Given the description of an element on the screen output the (x, y) to click on. 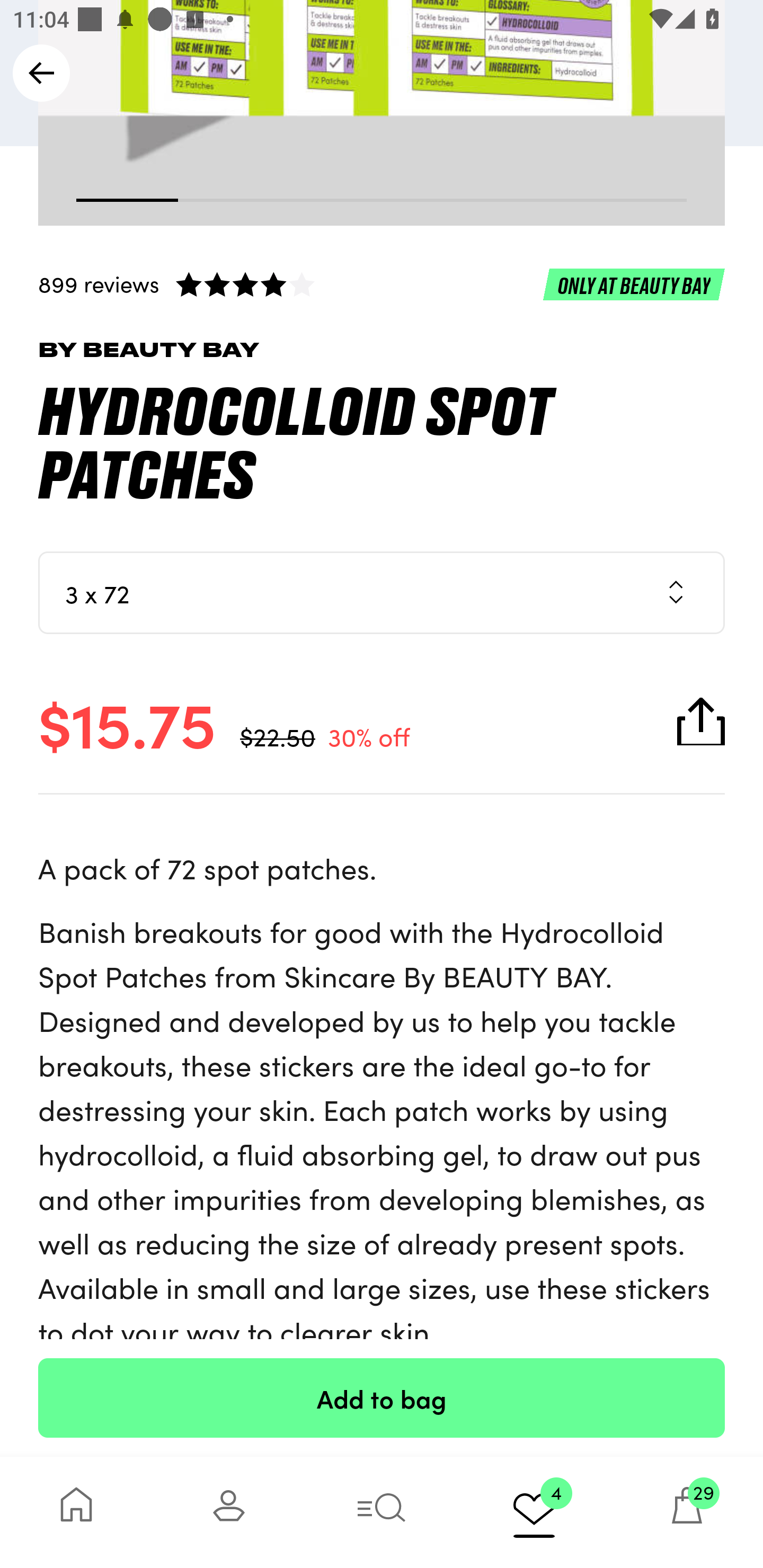
899 reviews (381, 283)
3 x 72    (381, 592)
Add to bag (381, 1397)
4 (533, 1512)
29 (686, 1512)
